Given the description of an element on the screen output the (x, y) to click on. 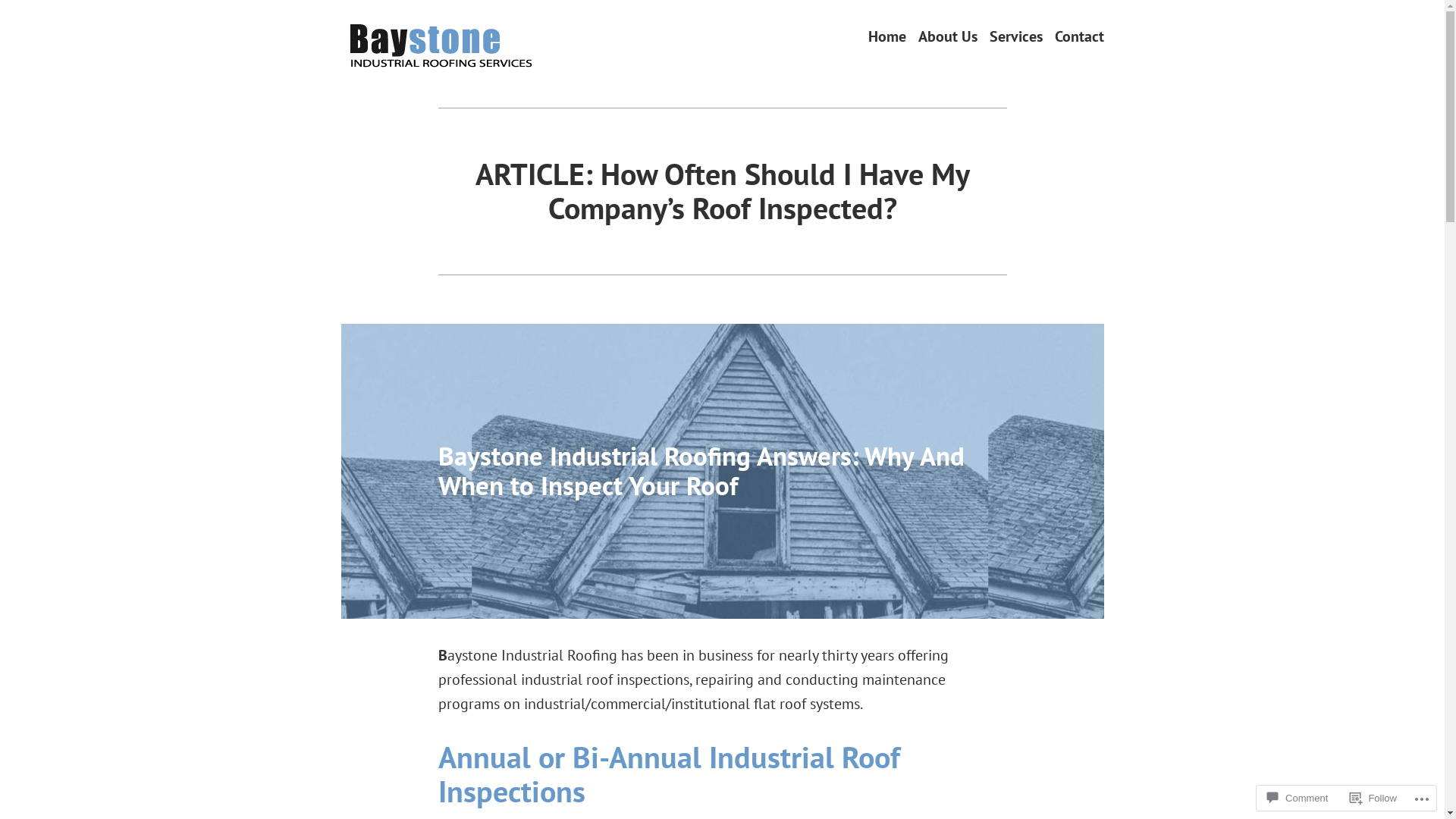
About Us Element type: text (946, 35)
Home Element type: text (886, 35)
Baystone Industrial Roofing Services Element type: text (547, 69)
Contact Element type: text (1078, 35)
Services Element type: text (1014, 35)
Follow Element type: text (1372, 797)
Comment Element type: text (1297, 797)
